Given the description of an element on the screen output the (x, y) to click on. 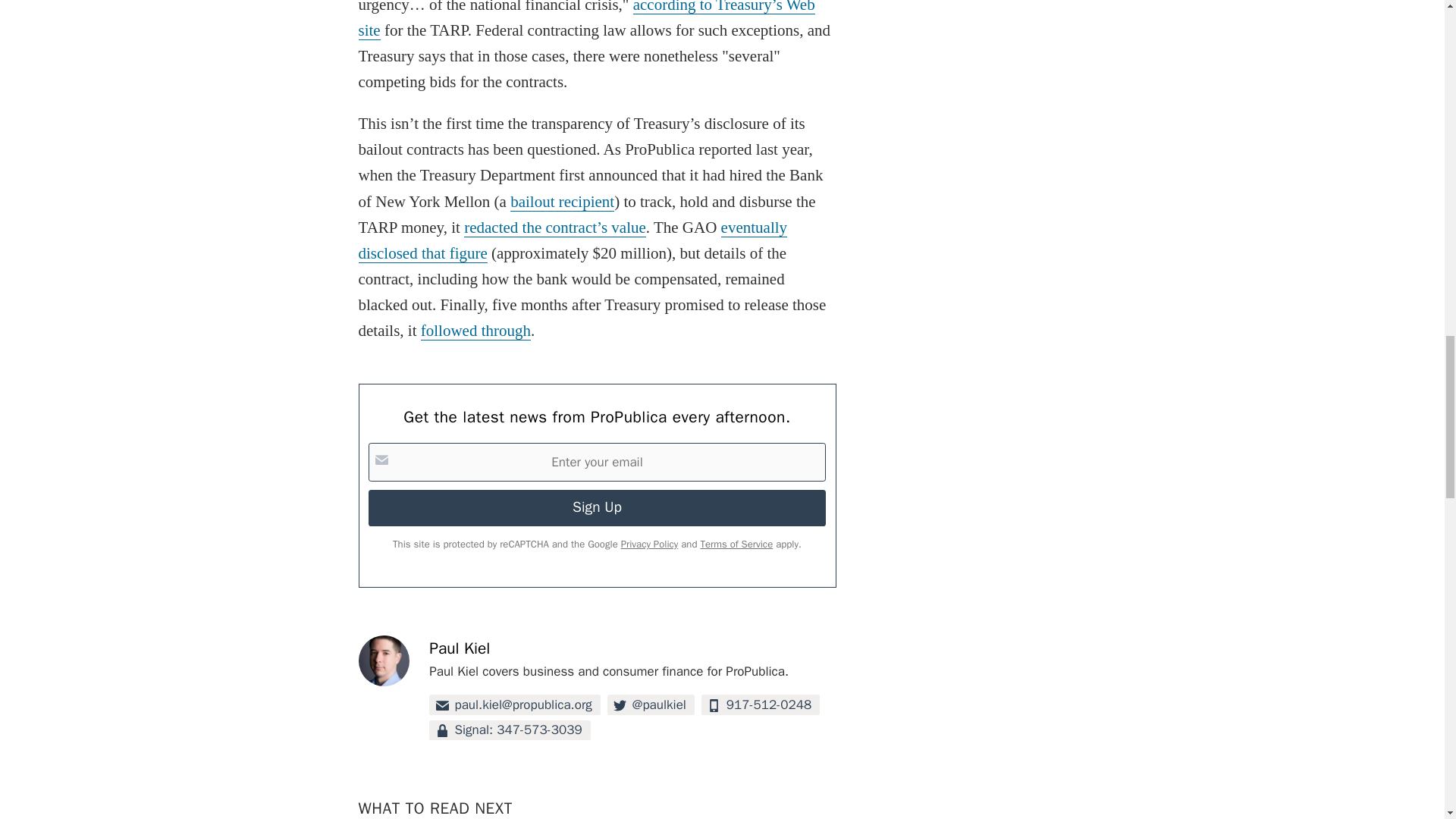
bailout recipient (562, 201)
Twitter (650, 704)
Phone (761, 704)
Sign Up (596, 507)
Email (514, 704)
